Given the description of an element on the screen output the (x, y) to click on. 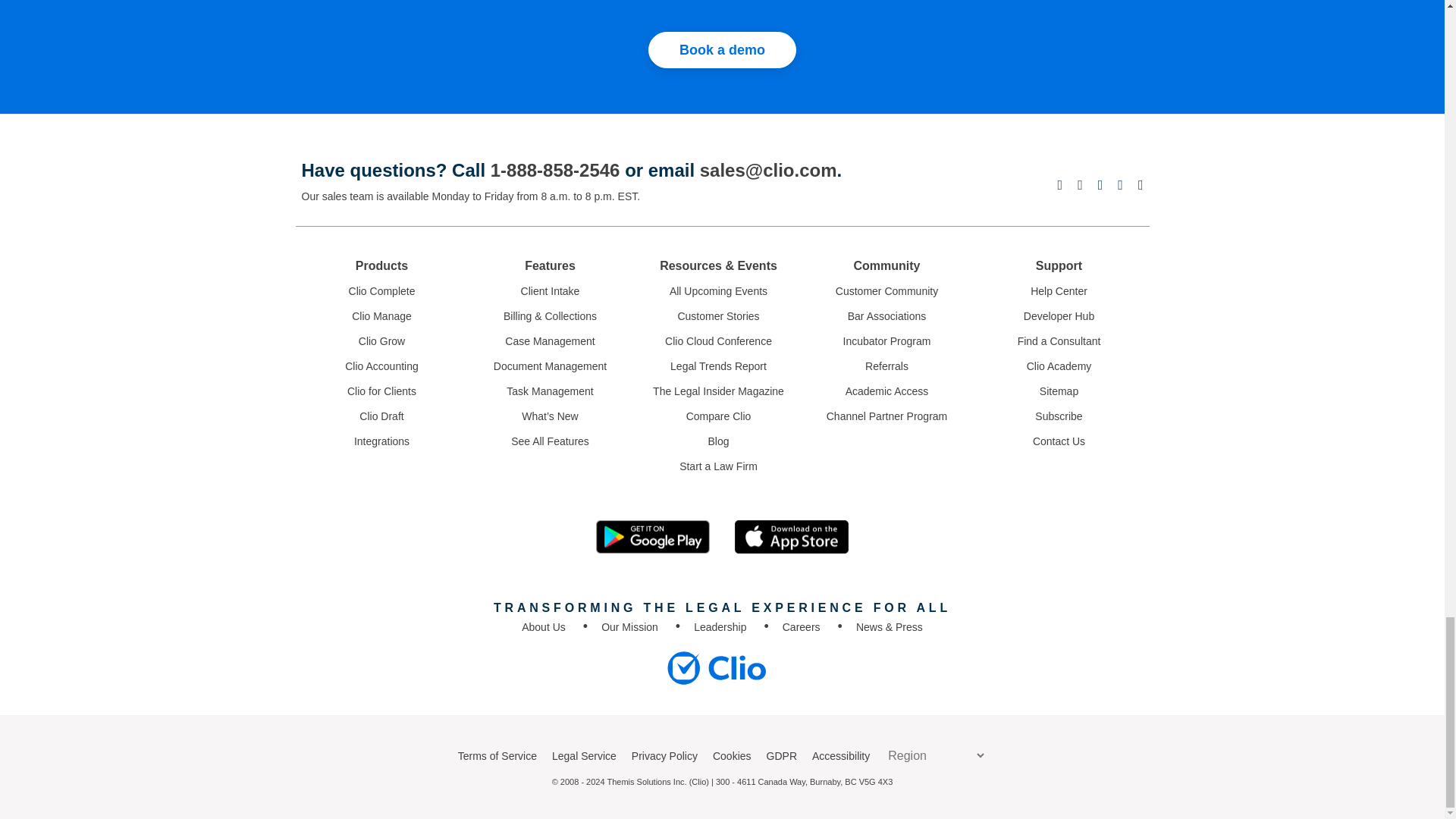
Clio logo (715, 667)
